Given the description of an element on the screen output the (x, y) to click on. 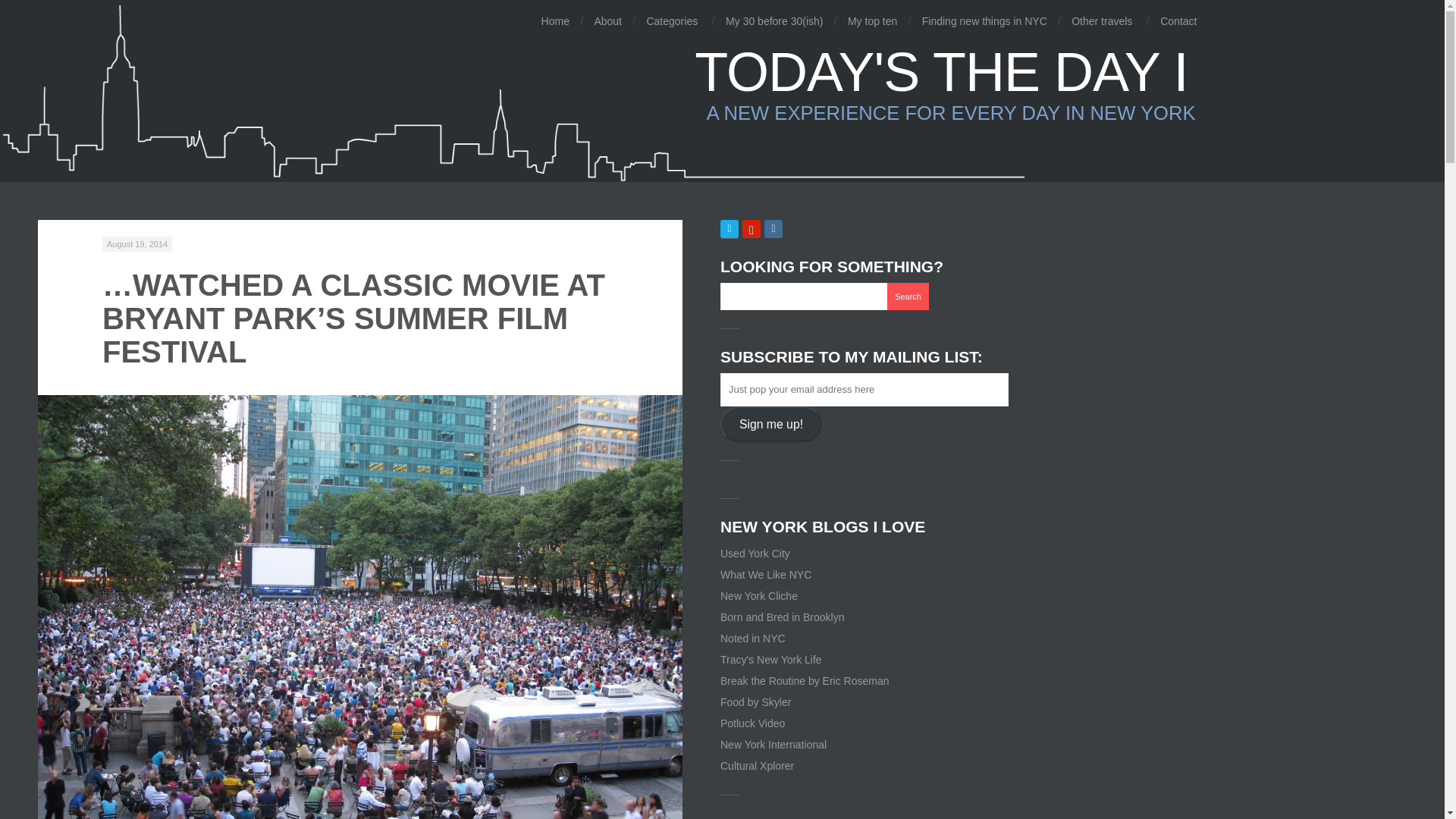
Contact (1178, 21)
Search (907, 296)
Search (907, 296)
Other travels (1101, 21)
Home (556, 21)
About (607, 21)
Finding new things in NYC (984, 21)
Twitter (721, 83)
Categories (729, 229)
My top ten (670, 21)
